Given the description of an element on the screen output the (x, y) to click on. 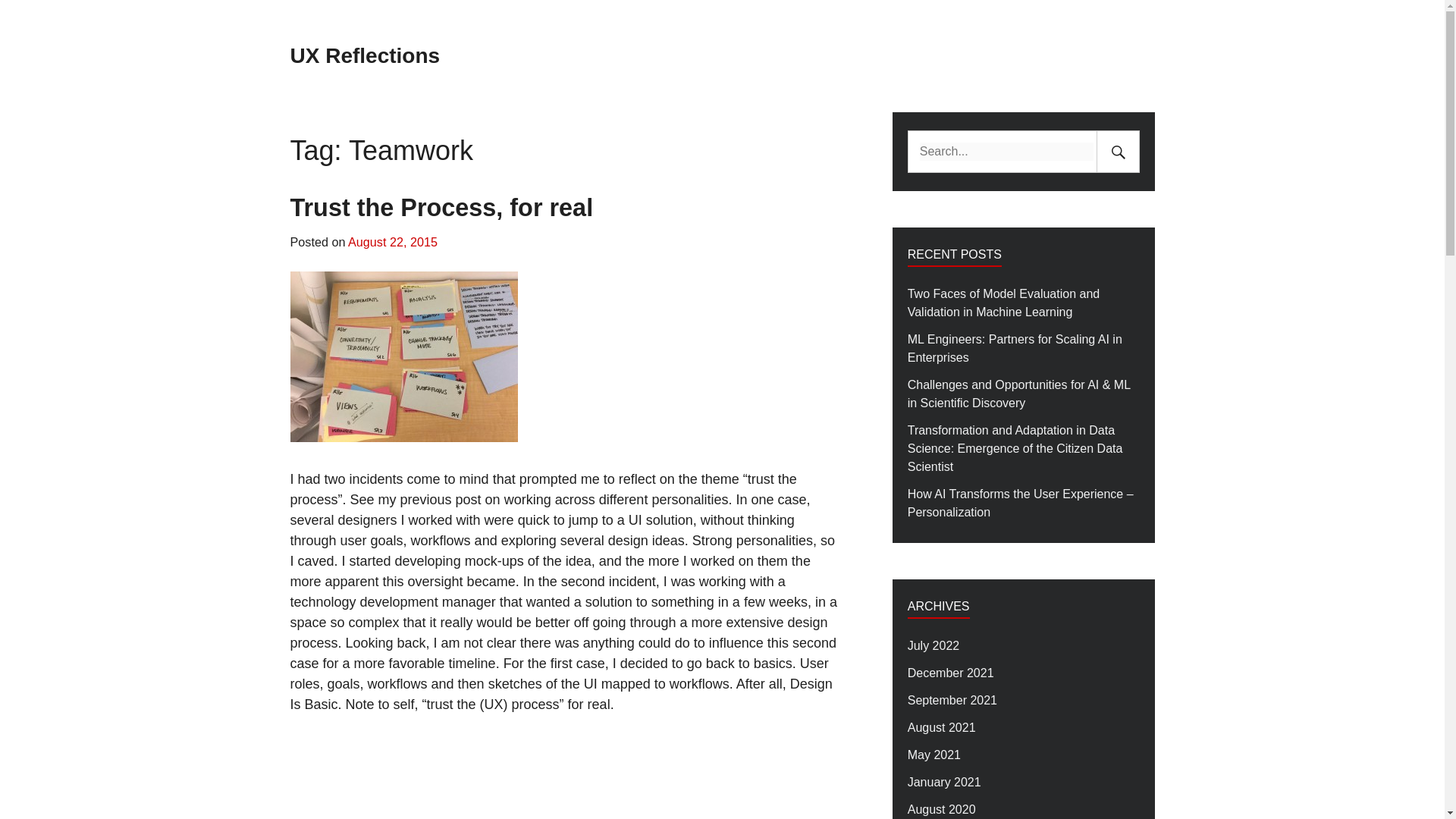
Trust the Process, for real (440, 207)
Search for: (1006, 151)
August 2020 (941, 809)
UX Reflections (364, 55)
Search Submit (1117, 151)
ML Engineers: Partners for Scaling AI in Enterprises (1023, 348)
September 2021 (952, 700)
January 2021 (944, 782)
August 2021 (941, 728)
May 2021 (933, 755)
August 22, 2015 (392, 241)
December 2021 (950, 673)
July 2022 (933, 646)
